Given the description of an element on the screen output the (x, y) to click on. 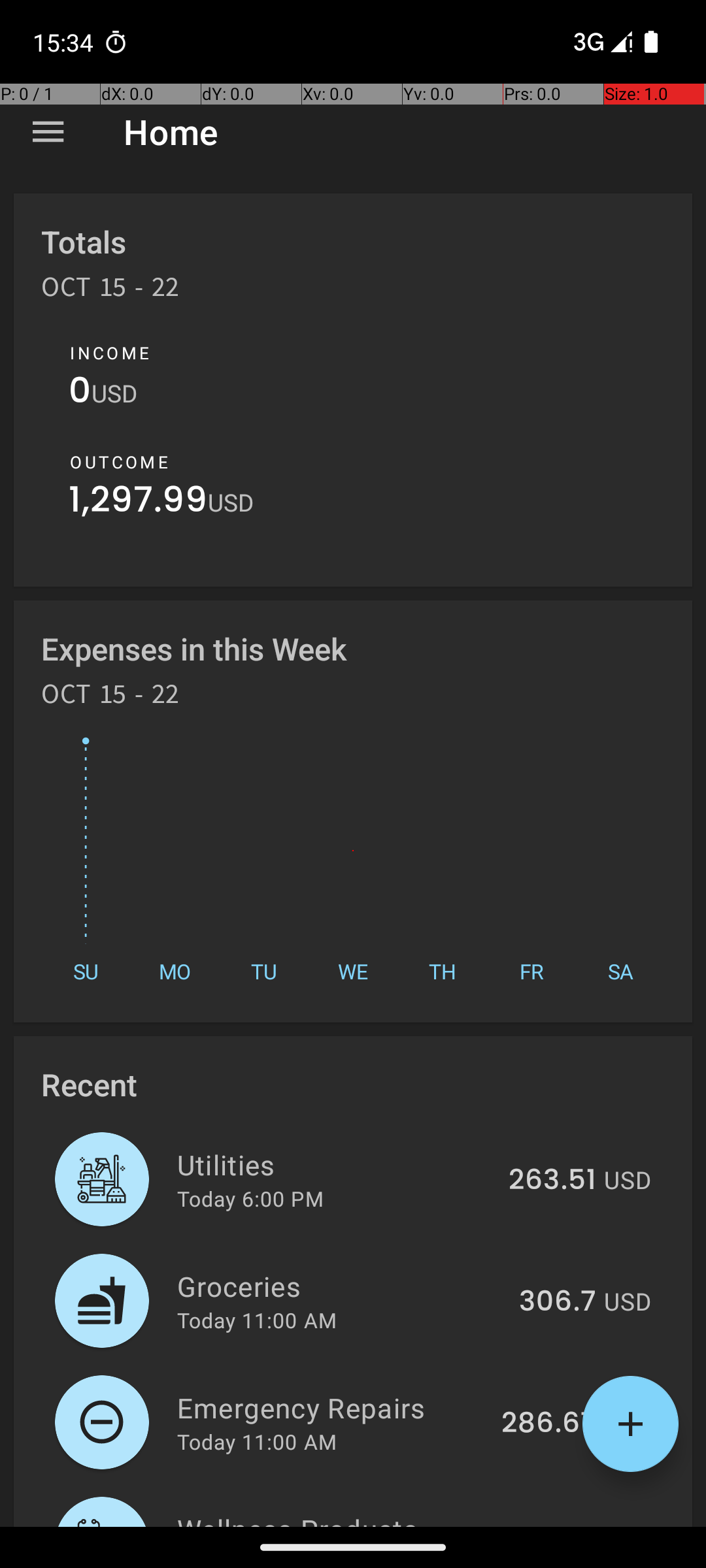
1,297.99 Element type: android.widget.TextView (137, 502)
263.51 Element type: android.widget.TextView (551, 1180)
306.7 Element type: android.widget.TextView (557, 1301)
Emergency Repairs Element type: android.widget.TextView (331, 1407)
286.67 Element type: android.widget.TextView (548, 1423)
441.11 Element type: android.widget.TextView (558, 1524)
